Given the description of an element on the screen output the (x, y) to click on. 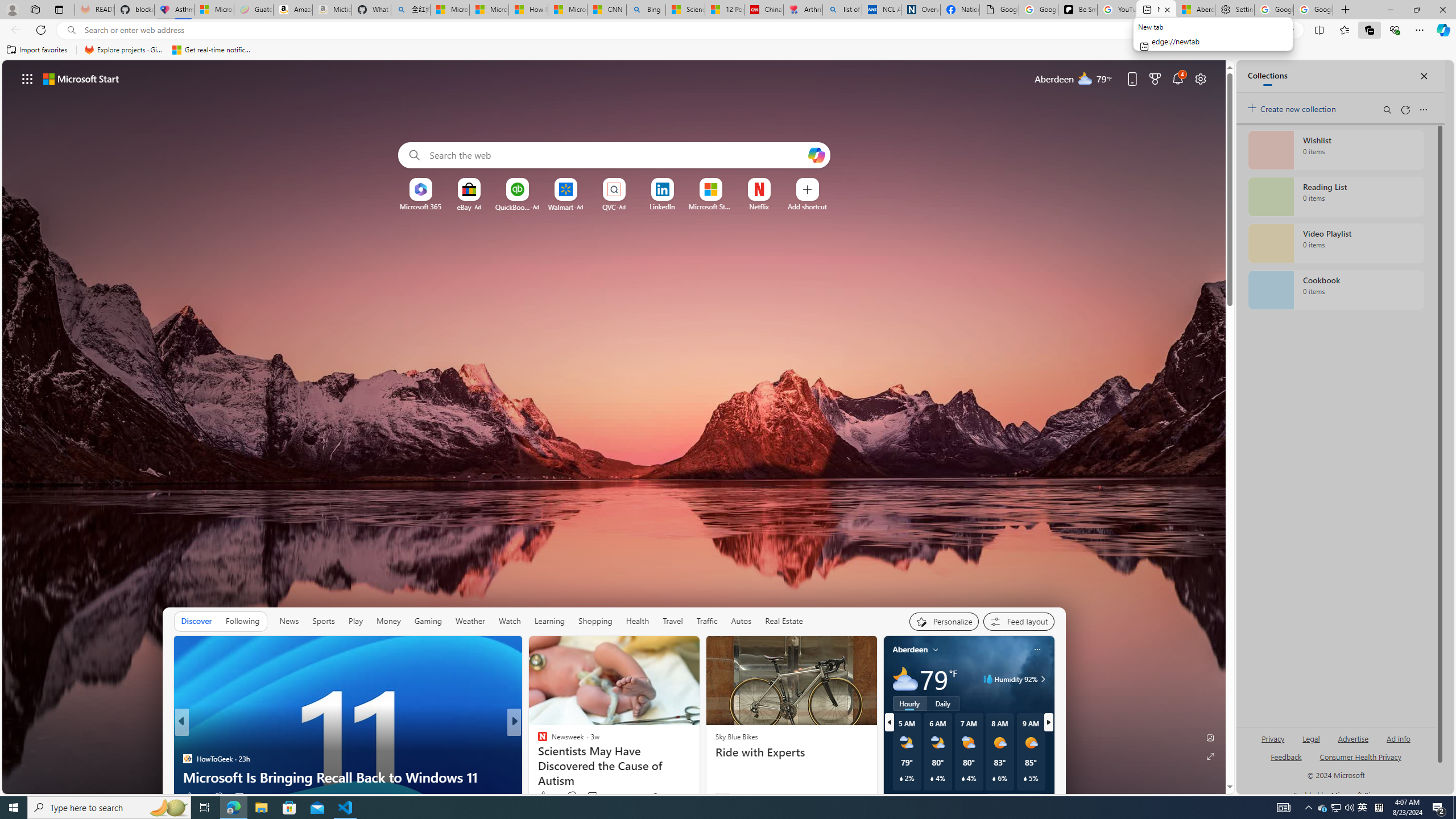
40 Like (543, 796)
Humidity 92% (1040, 678)
Autos (740, 621)
YourTango: Revolutionizing Relationships (537, 758)
Bing (646, 9)
11 Like (543, 796)
